Given the description of an element on the screen output the (x, y) to click on. 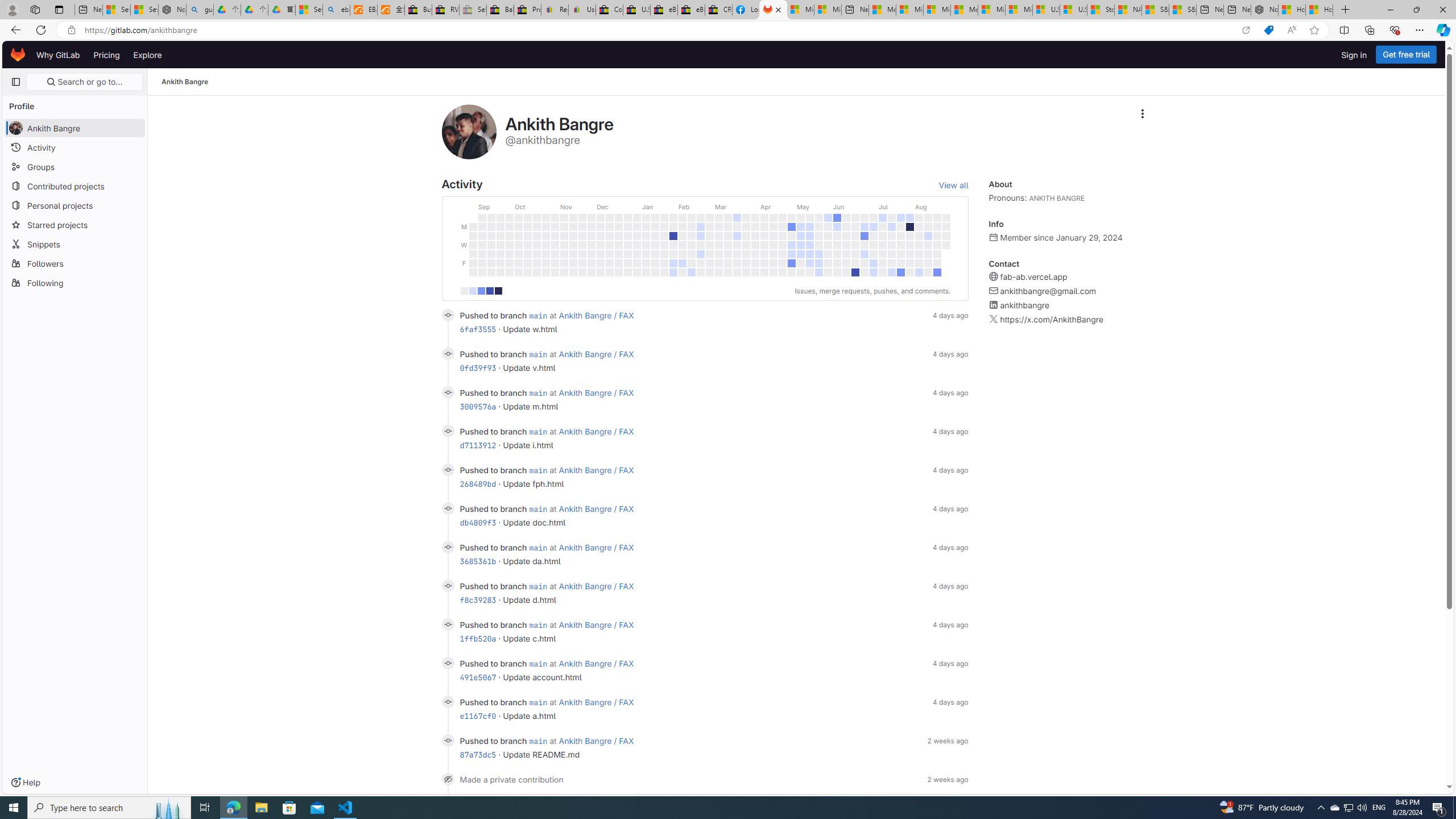
Starred projects (74, 224)
New Tab (1346, 9)
Collections (1369, 29)
